Given the description of an element on the screen output the (x, y) to click on. 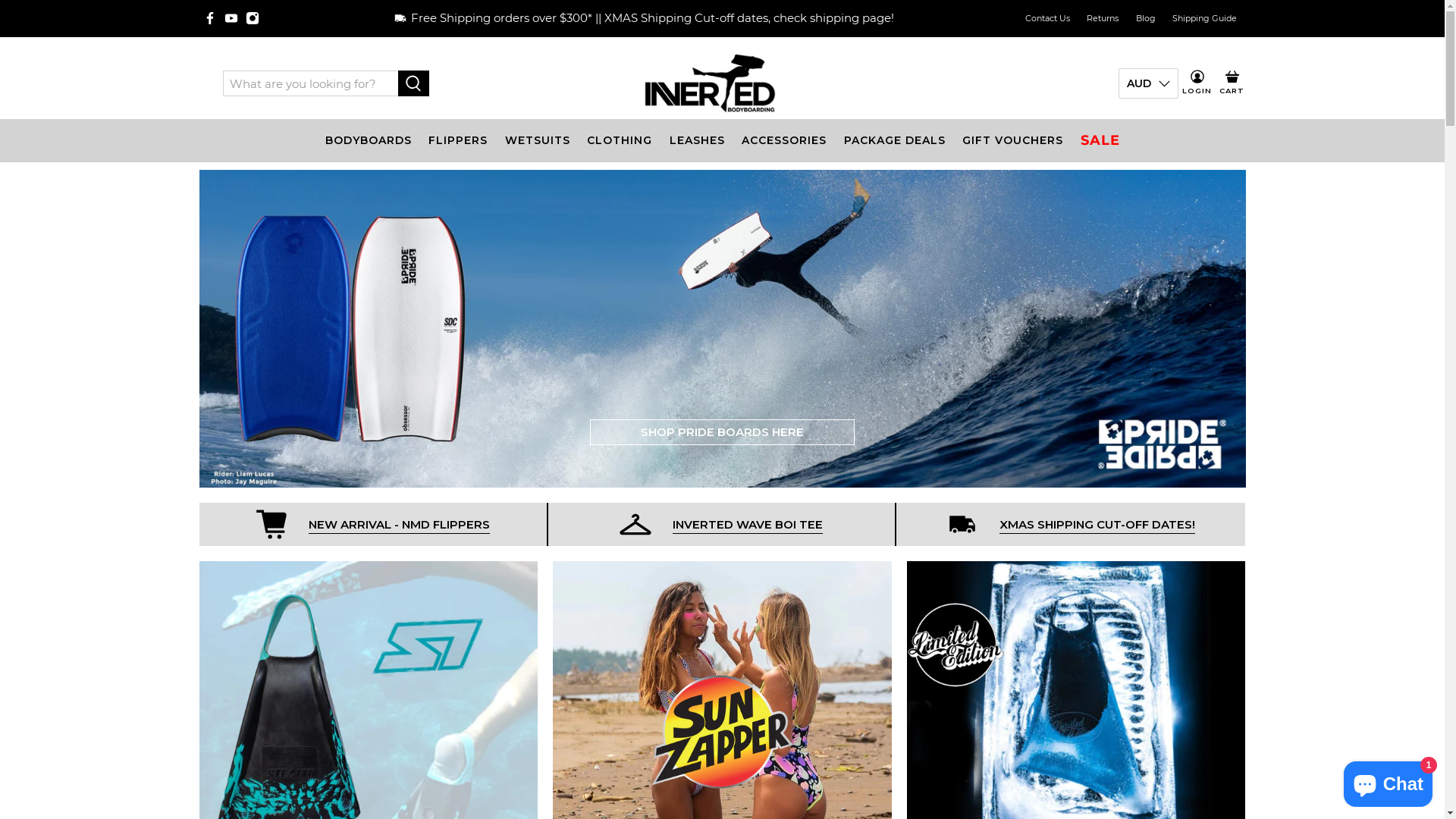
Inverted Bodyboarding Element type: hover (709, 82)
Returns Element type: text (1102, 18)
NEW ARRIVAL - NMD FLIPPERS Element type: text (398, 525)
INVERTED WAVE BOI TEE Element type: text (747, 525)
AUD Element type: text (1148, 83)
FLIPPERS Element type: text (458, 140)
Inverted Bodyboarding on YouTube Element type: hover (231, 18)
CART Element type: text (1231, 83)
Shopify online store chat Element type: hover (1388, 780)
LOGIN Element type: text (1196, 83)
PACKAGE DEALS Element type: text (893, 140)
Inverted Bodyboarding on Facebook Element type: hover (209, 18)
XMAS SHIPPING CUT-OFF DATES! Element type: text (1097, 525)
SALE Element type: text (1099, 140)
WETSUITS Element type: text (536, 140)
Shipping Guide Element type: text (1204, 18)
Inverted Bodyboarding on Instagram Element type: hover (252, 18)
CLOTHING Element type: text (619, 140)
Blog Element type: text (1145, 18)
SHOP PRIDE BOARDS HERE Element type: text (721, 432)
BODYBOARDS Element type: text (368, 140)
LEASHES Element type: text (696, 140)
GIFT VOUCHERS Element type: text (1012, 140)
Contact Us Element type: text (1047, 18)
ACCESSORIES Element type: text (784, 140)
